Given the description of an element on the screen output the (x, y) to click on. 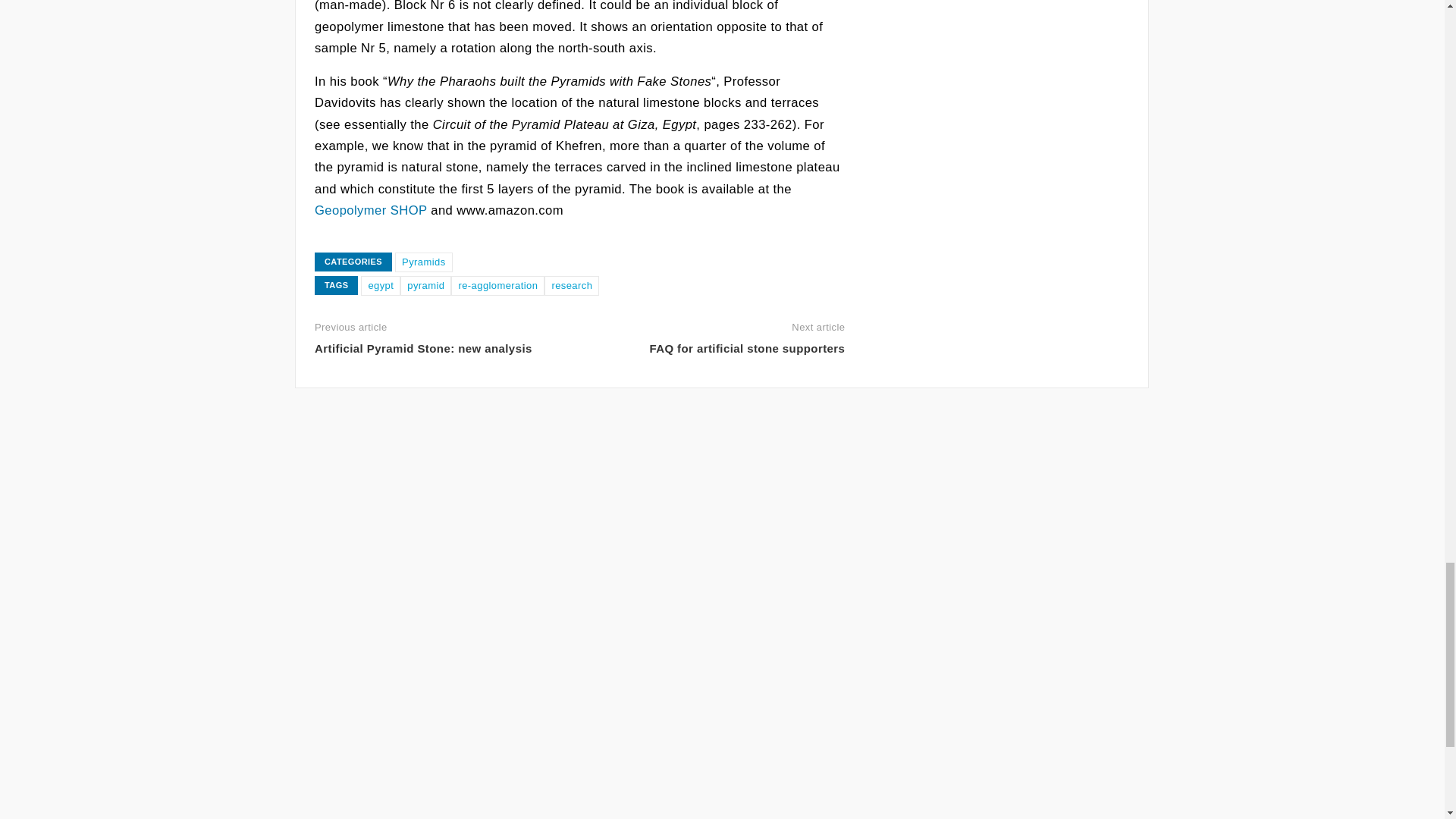
Geopolymer SHOP (370, 210)
egypt (380, 285)
Pyramids (423, 261)
